Given the description of an element on the screen output the (x, y) to click on. 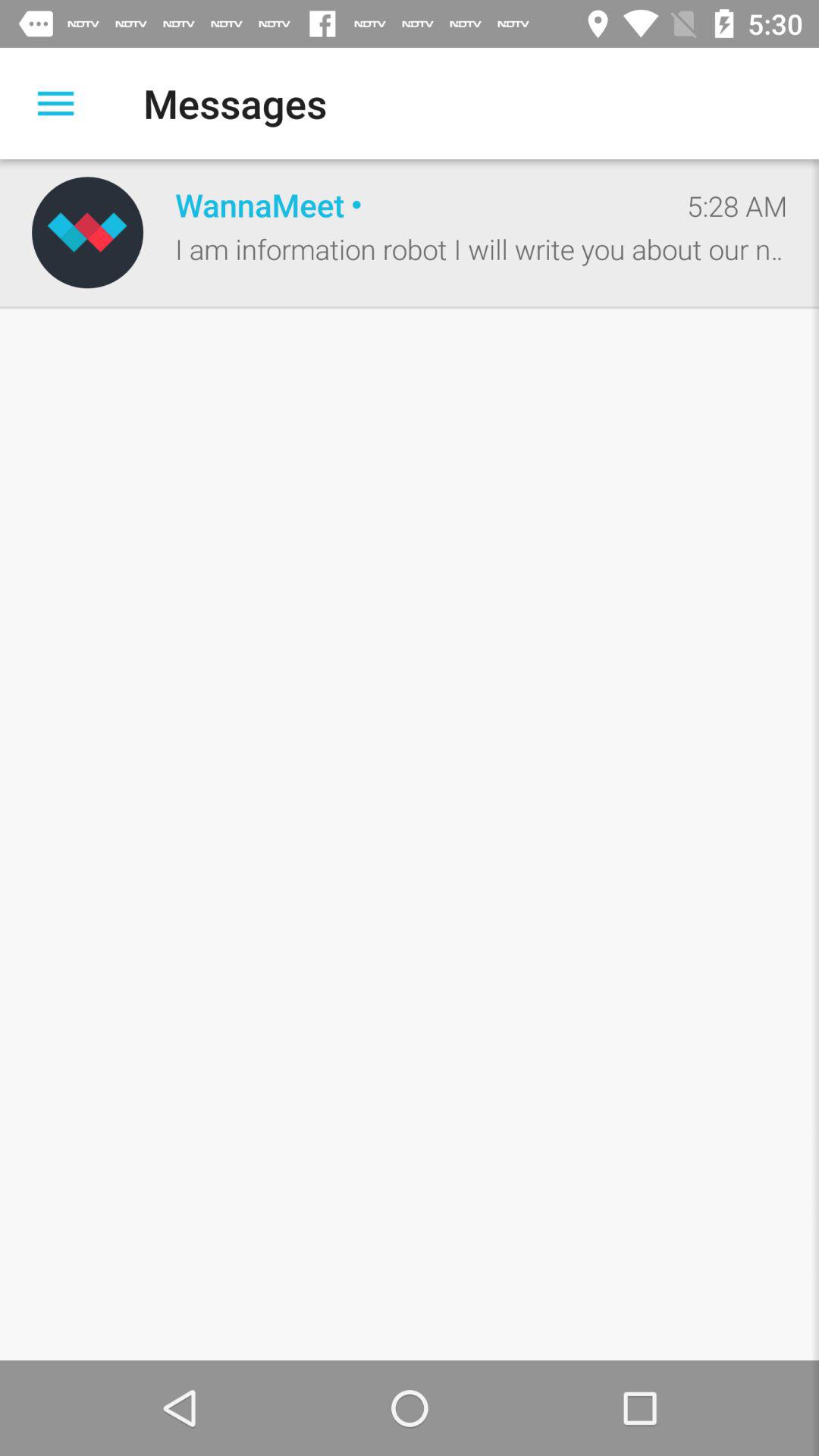
press 5:28 am item (737, 205)
